Given the description of an element on the screen output the (x, y) to click on. 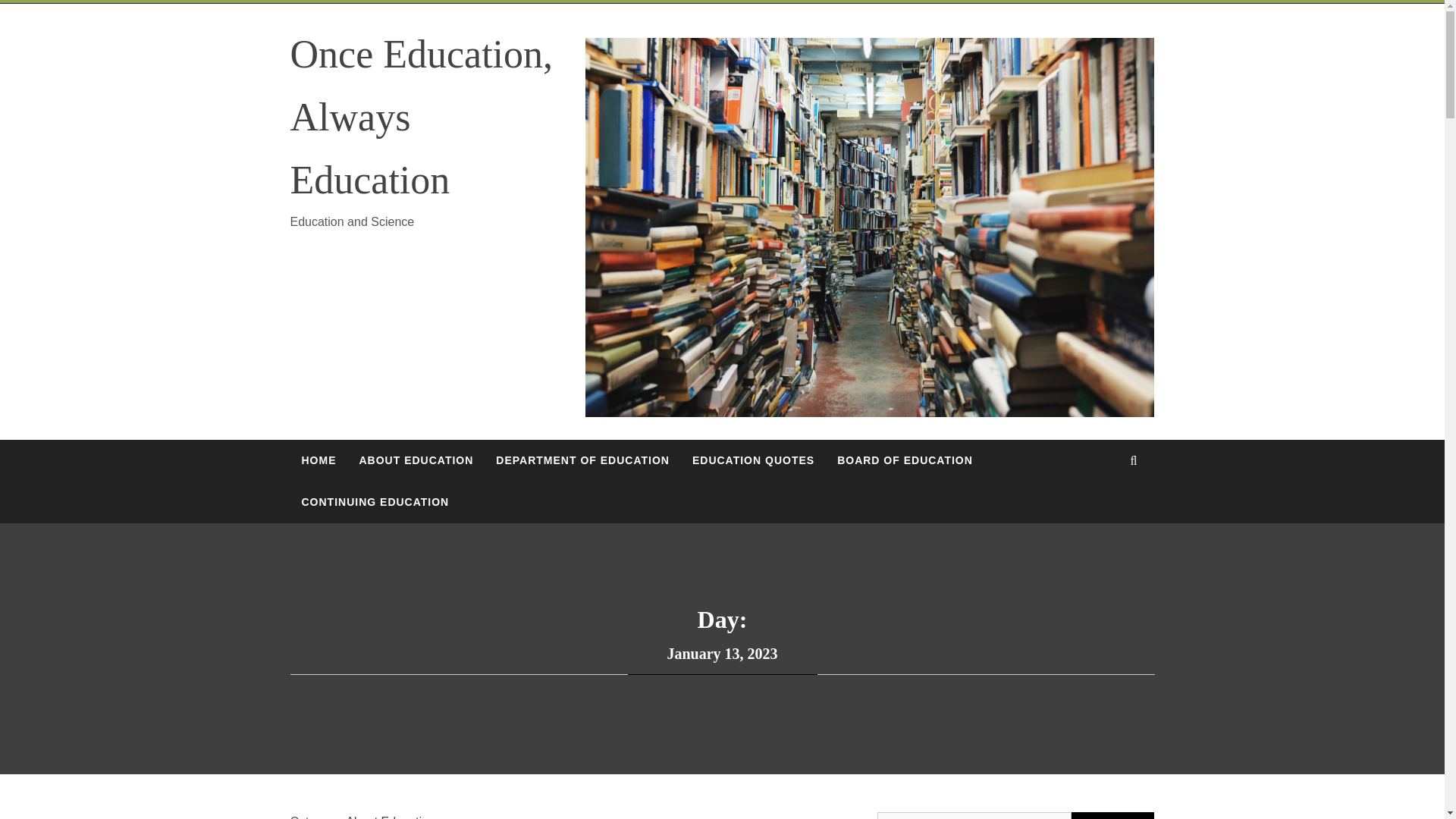
DEPARTMENT OF EDUCATION (582, 460)
ABOUT EDUCATION (415, 460)
CONTINUING EDUCATION (374, 502)
Search (1112, 815)
Search (1112, 815)
HOME (318, 460)
BOARD OF EDUCATION (904, 460)
EDUCATION QUOTES (753, 460)
About Education (389, 815)
Search (797, 37)
Once Education, Always Education (421, 116)
Search (1112, 815)
